Given the description of an element on the screen output the (x, y) to click on. 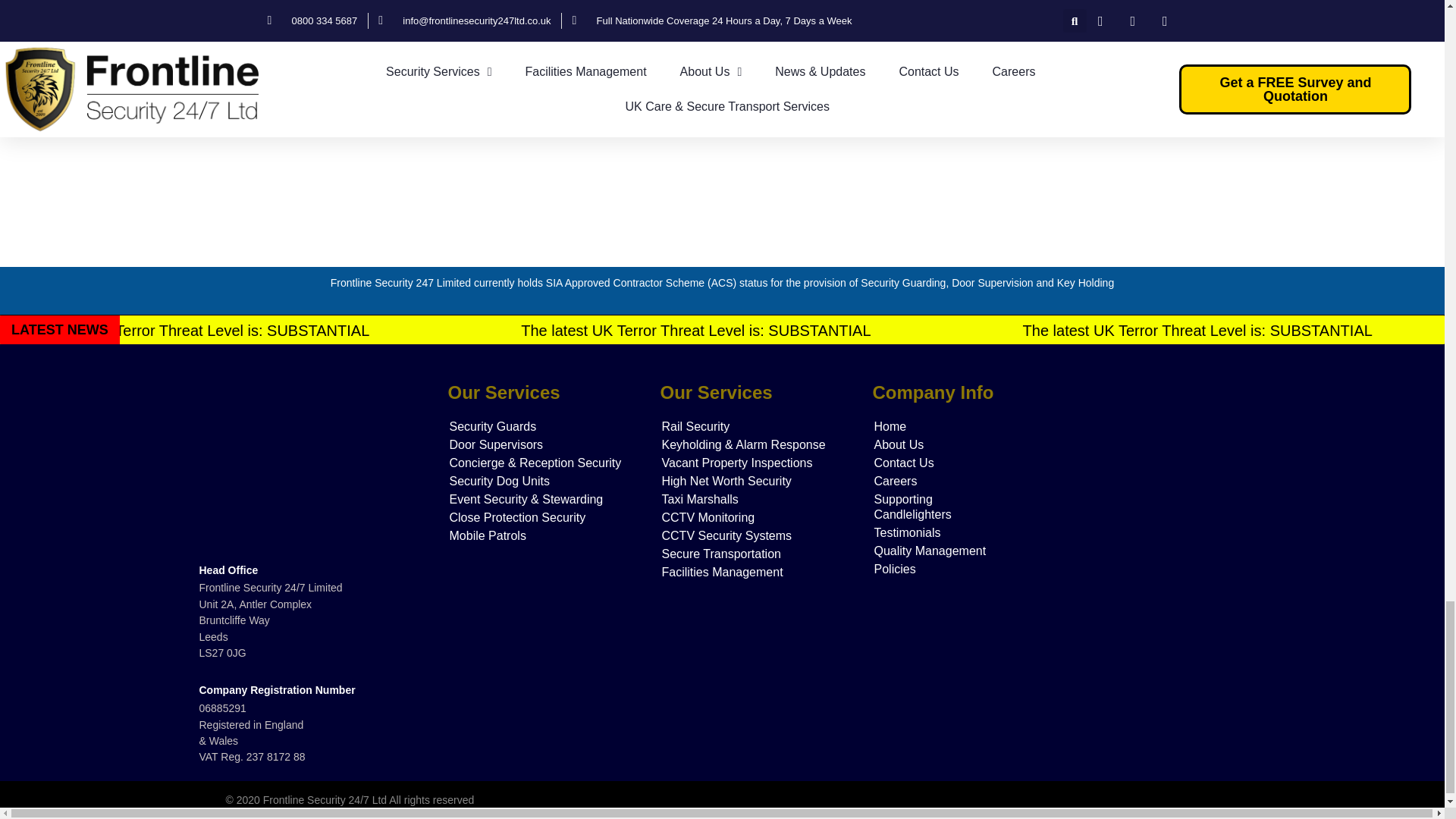
Customer reviews powered by Trustpilot (1146, 668)
